Given the description of an element on the screen output the (x, y) to click on. 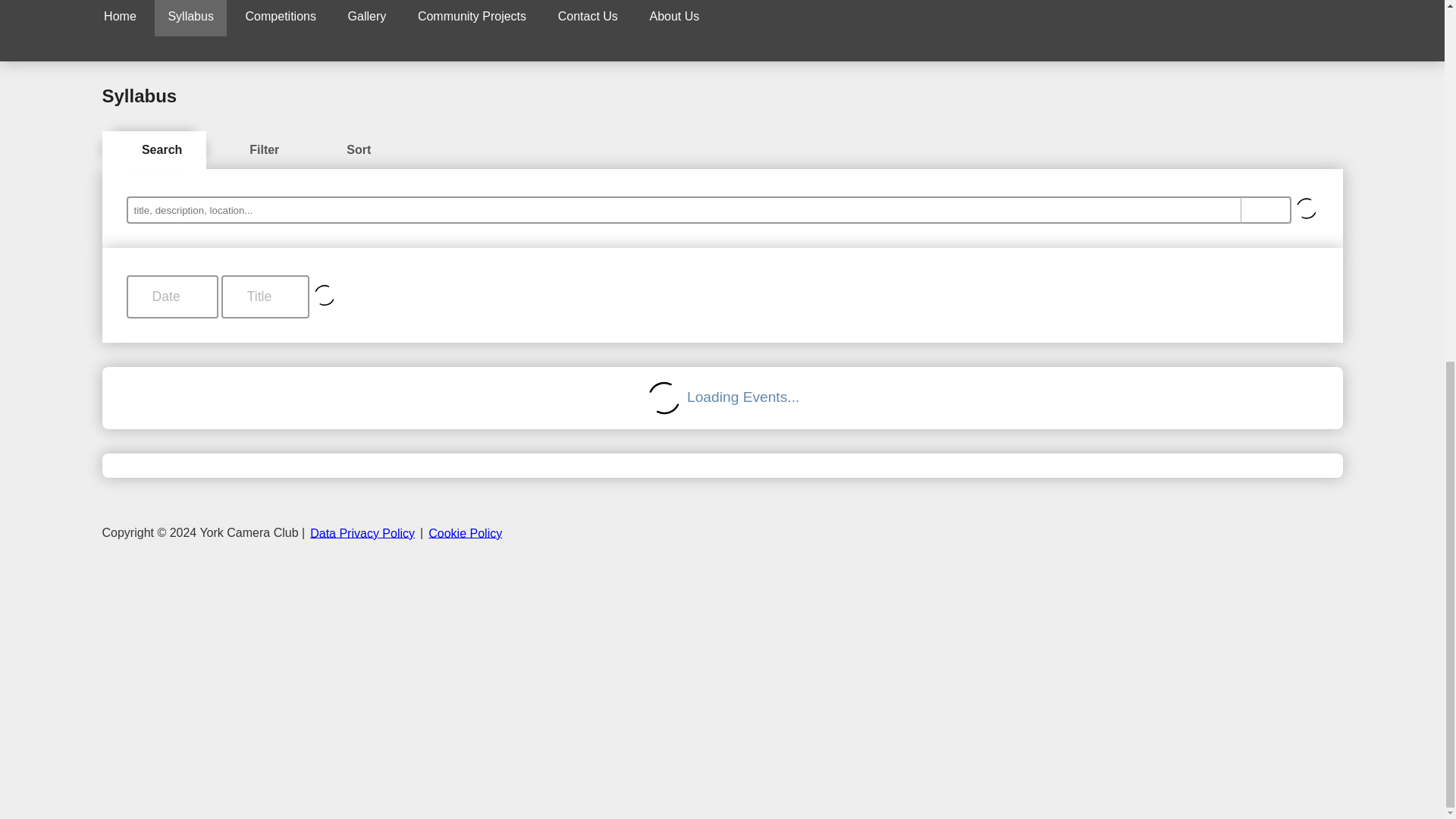
Cookie Policy (464, 532)
Contact Us (587, 18)
Date (170, 296)
Gallery (366, 18)
About Us (673, 18)
Data Privacy Policy (362, 532)
Syllabus (189, 18)
Title (265, 296)
Competitions (280, 18)
Community Projects (471, 18)
Home (119, 18)
